Given the description of an element on the screen output the (x, y) to click on. 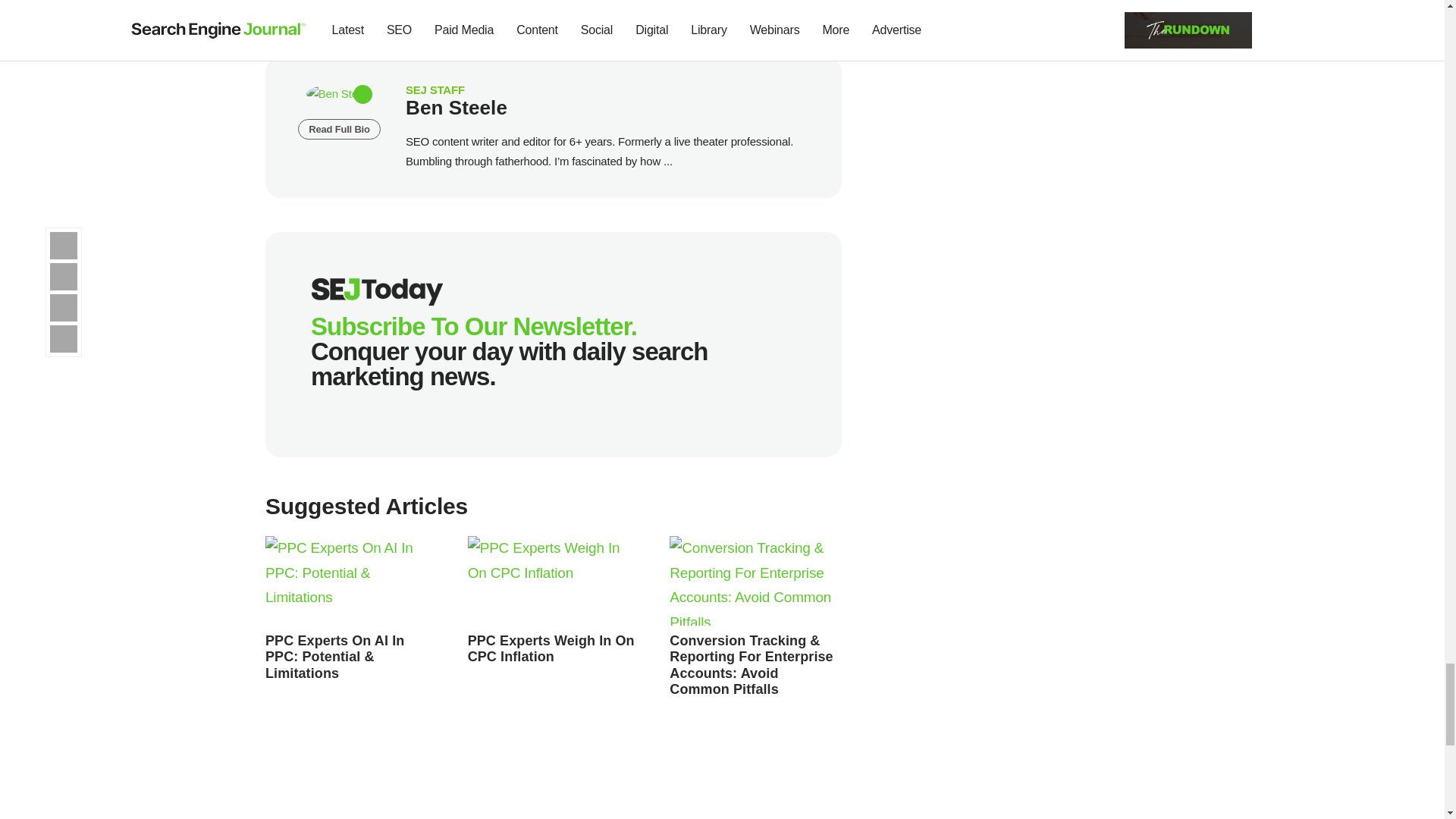
Read the Article (334, 656)
Read the Article (351, 580)
Read the Article (553, 580)
